Given the description of an element on the screen output the (x, y) to click on. 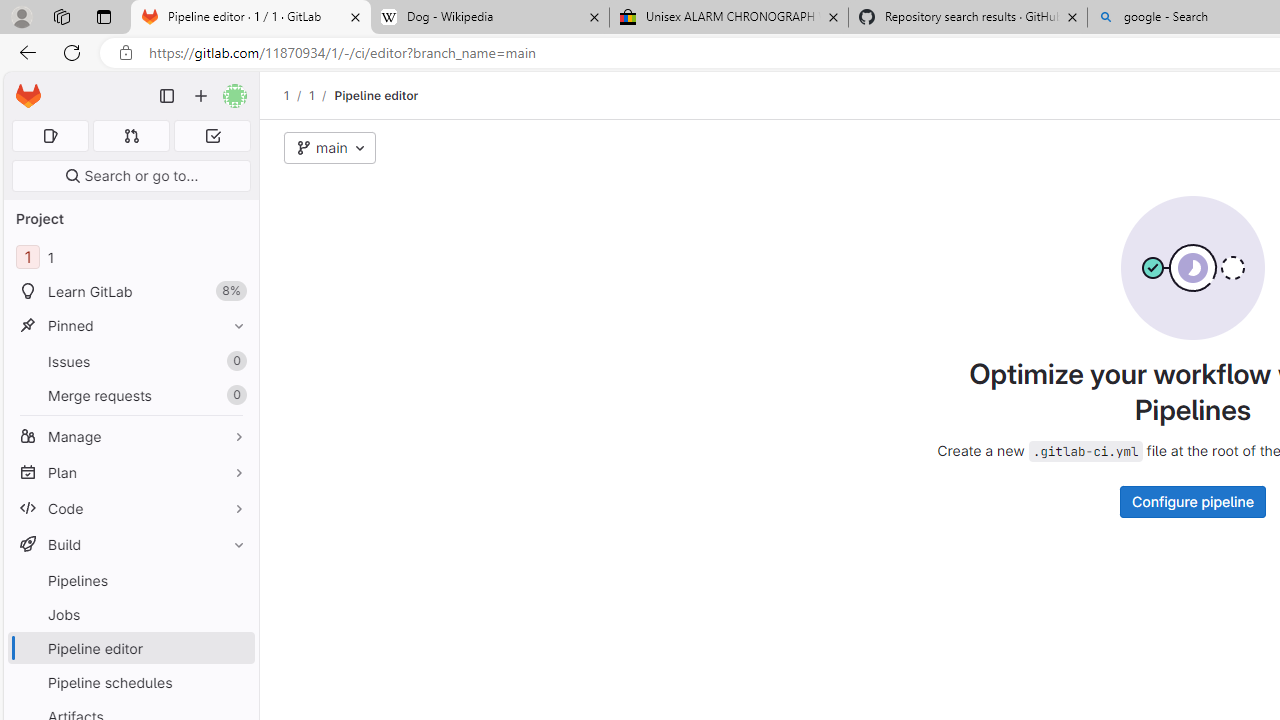
Pinned (130, 325)
Plan (130, 471)
Create new... (201, 96)
Unpin Issues (234, 361)
Pipeline editor (376, 95)
Pin Pipeline schedules (234, 682)
Code (130, 507)
Jobs (130, 614)
Pipelines (130, 579)
